Given the description of an element on the screen output the (x, y) to click on. 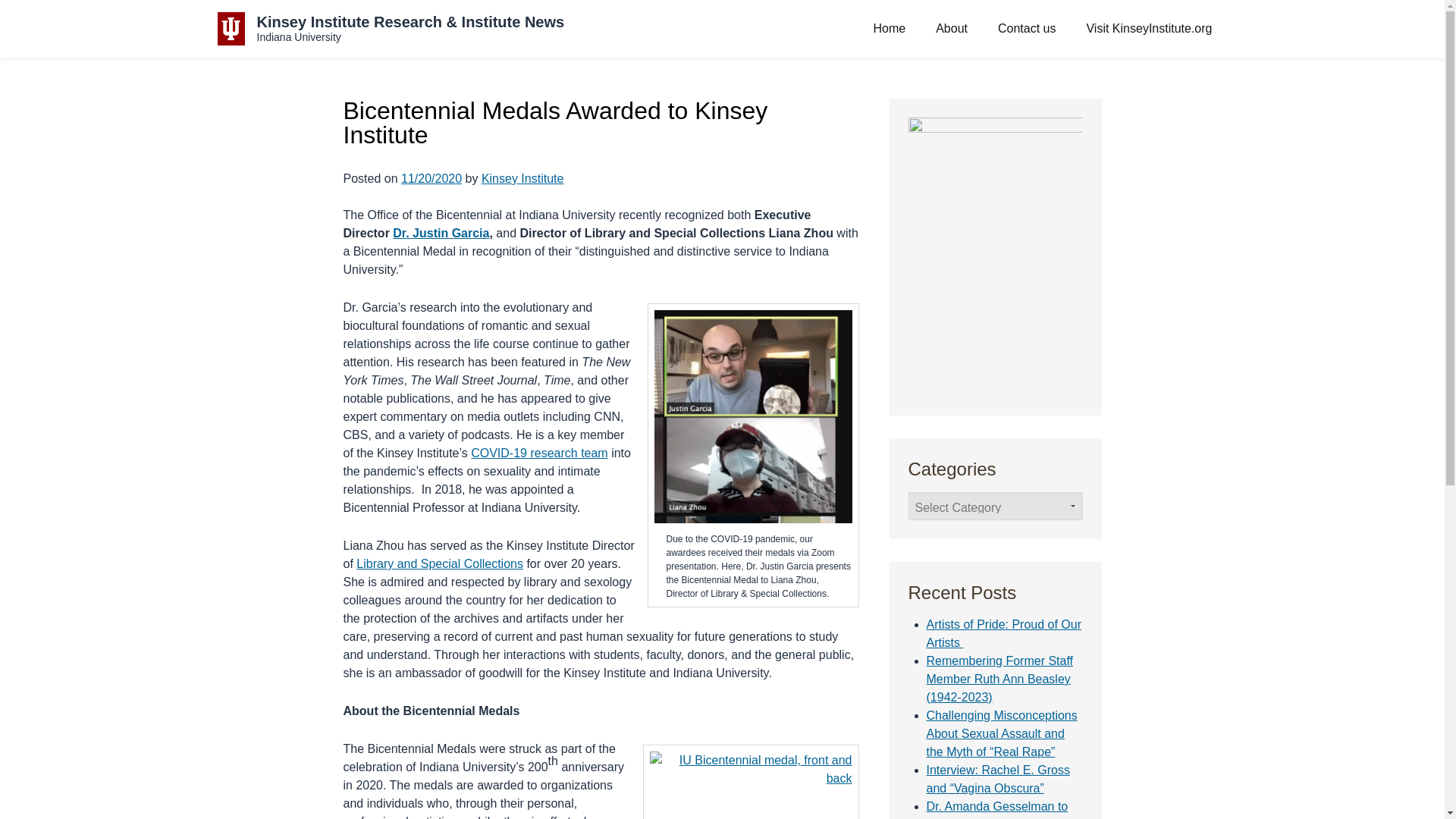
Home (890, 28)
Library and Special Collections (439, 563)
Contact us (1026, 28)
Kinsey Institute (522, 178)
COVID-19 research team (539, 452)
Visit KinseyInstitute.org (1149, 28)
Artists of Pride: Proud of Our Artists  (1003, 633)
About (951, 28)
Dr. Justin Garcia (441, 232)
